Given the description of an element on the screen output the (x, y) to click on. 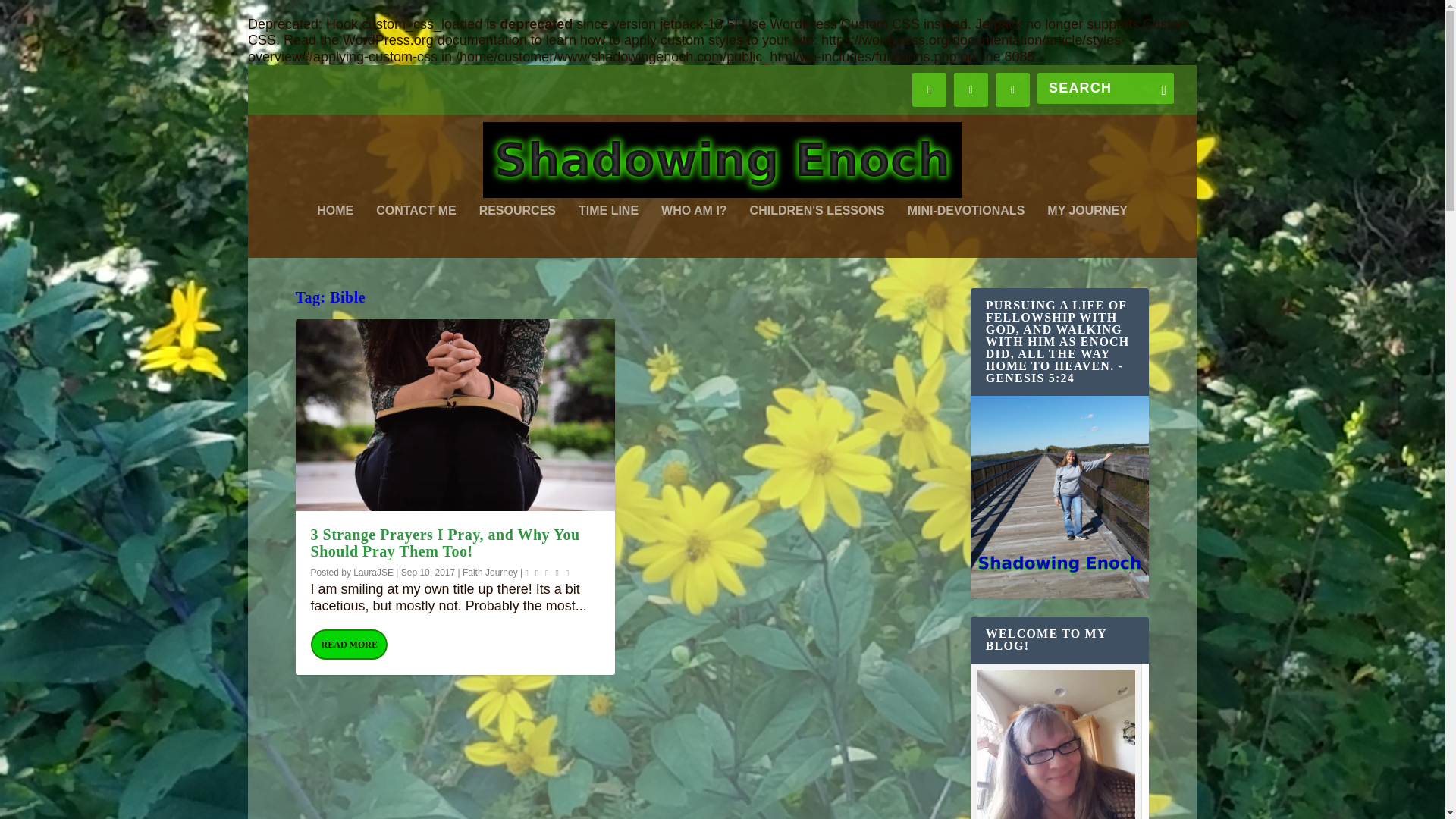
MY JOURNEY (1086, 230)
WHO AM I? (693, 230)
MINI-DEVOTIONALS (966, 230)
RESOURCES (517, 230)
CHILDREN'S LESSONS (817, 230)
Rating: 4.50 (548, 572)
CONTACT ME (415, 230)
Posts by LauraJSE (373, 572)
Search for: (1104, 88)
3 Strange Prayers I Pray, and Why You Should Pray Them Too! (454, 415)
